Given the description of an element on the screen output the (x, y) to click on. 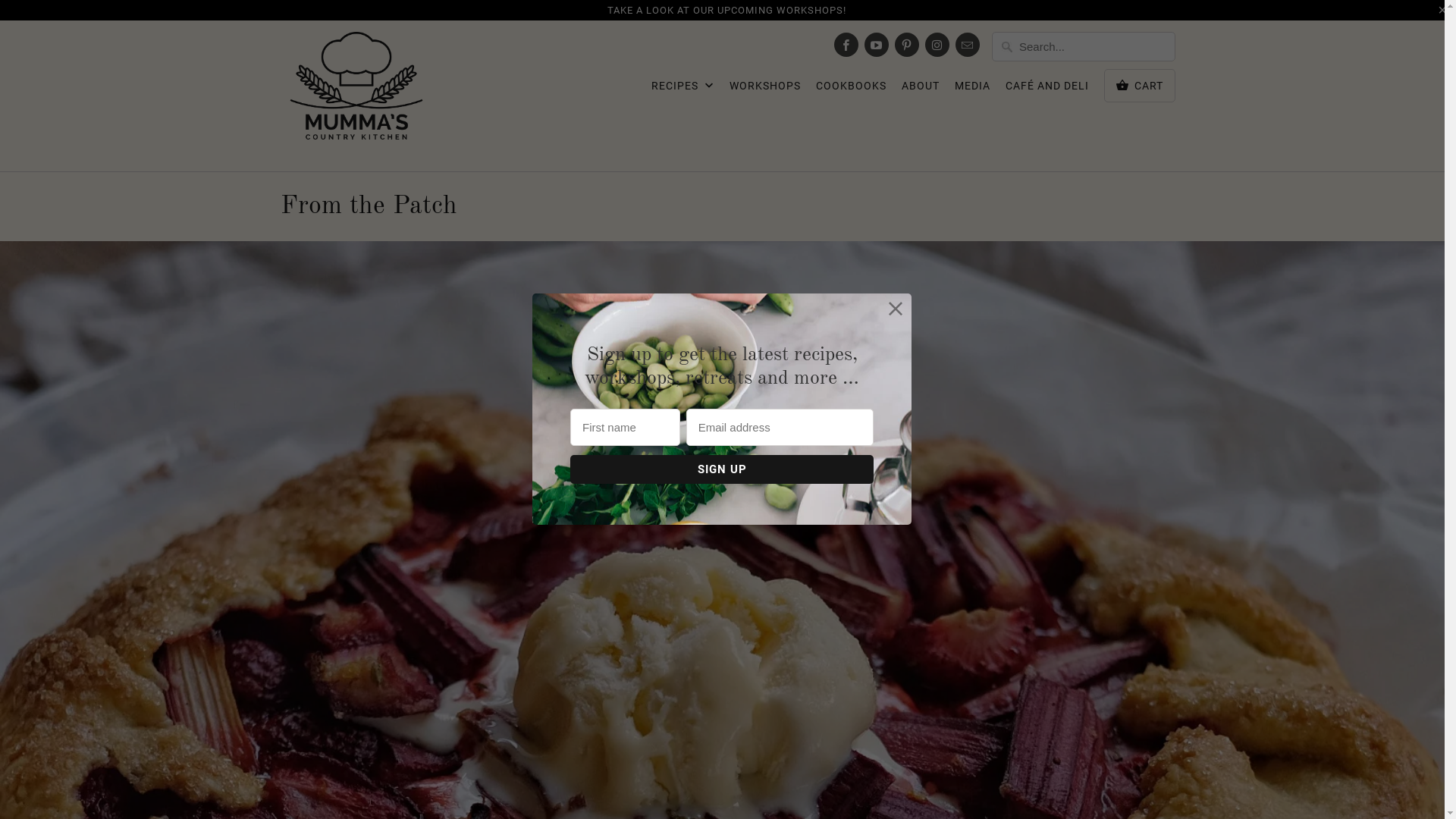
Sign Up Element type: text (721, 469)
COOKBOOKS Element type: text (850, 89)
WORKSHOPS Element type: text (764, 89)
Close Element type: hover (895, 308)
Mumma's Country Kitchen on Facebook Element type: hover (846, 44)
Mumma's Country Kitchen on Instagram Element type: hover (937, 44)
Mumma's Country Kitchen Element type: hover (356, 95)
ABOUT Element type: text (920, 89)
From the Patch Element type: text (368, 206)
Email Mumma's Country Kitchen Element type: hover (967, 44)
RECIPES Element type: text (682, 90)
Mumma's Country Kitchen on YouTube Element type: hover (876, 44)
CART Element type: text (1139, 85)
MEDIA Element type: text (972, 89)
Mumma's Country Kitchen on Pinterest Element type: hover (906, 44)
